Given the description of an element on the screen output the (x, y) to click on. 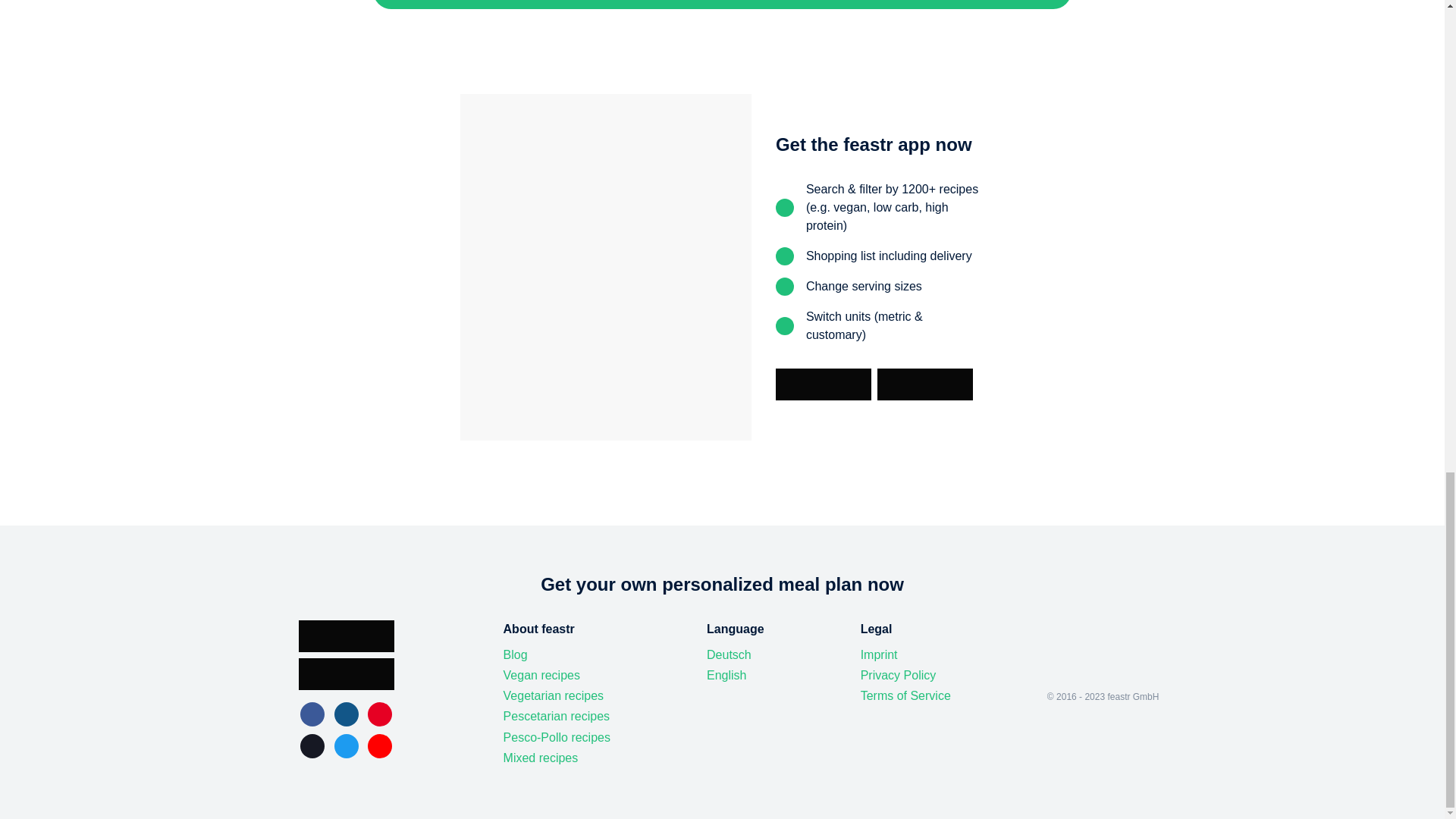
Blog (515, 655)
English (725, 675)
Terms of Service (905, 696)
Mixed recipes (540, 758)
Deutsch (728, 655)
Vegan recipes (541, 675)
Imprint (879, 655)
Pesco-Pollo recipes (556, 737)
Privacy Policy (898, 675)
Vegetarian recipes (553, 696)
